Given the description of an element on the screen output the (x, y) to click on. 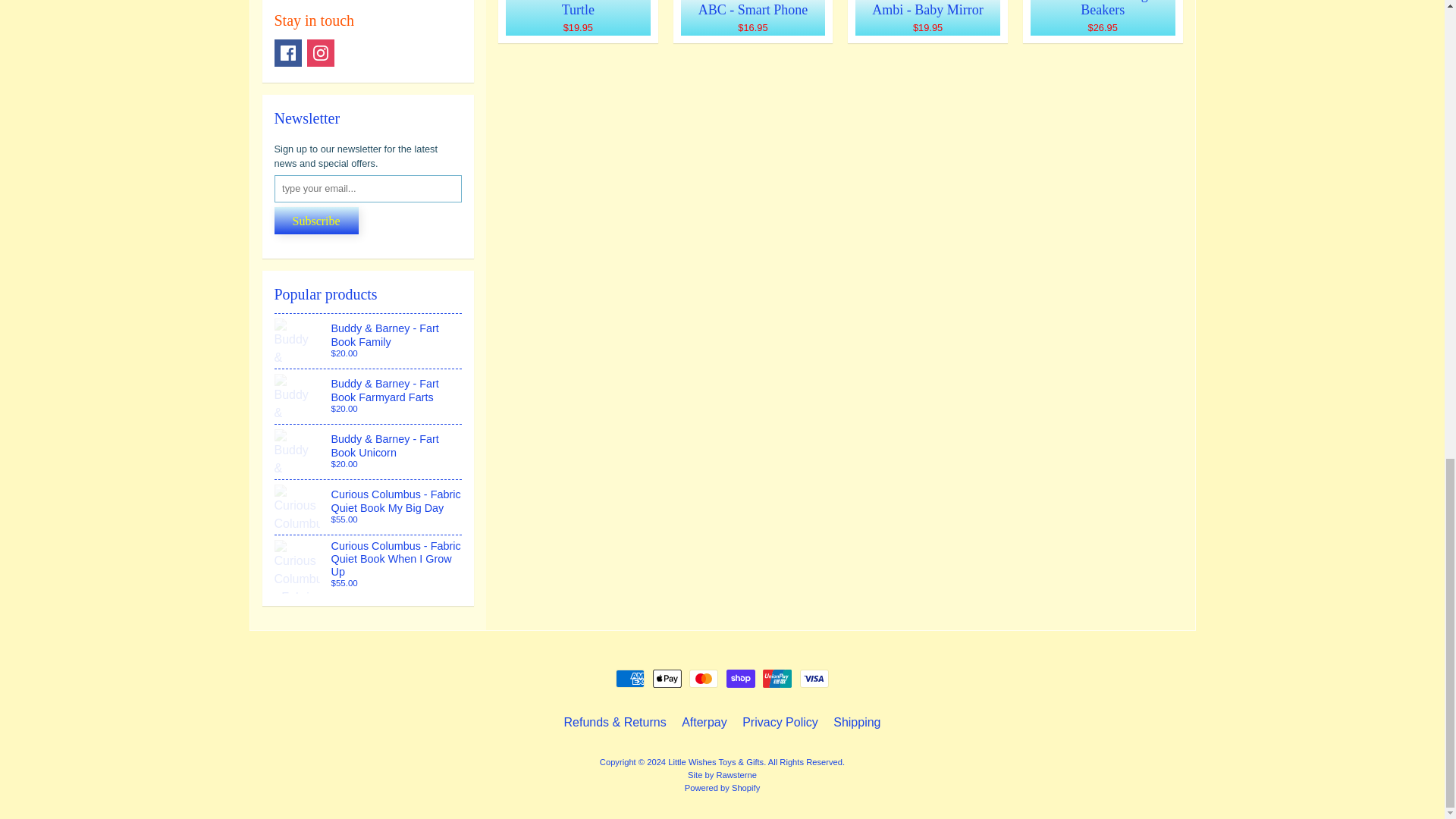
Apple Pay (666, 678)
ABC - Slide'N Match Turtle (577, 21)
Instagram (320, 52)
Union Pay (777, 678)
ABC - Smart Phone (752, 21)
Curious Columbus - Fabric Quiet Book My Big Day (369, 506)
American Express (630, 678)
Shop Pay (740, 678)
Mastercard (702, 678)
Curious Columbus - Fabric Quiet Book When I Grow Up (369, 564)
Facebook (288, 52)
Visa (813, 678)
Ambi - Building Beakers (1102, 21)
Ambi - Baby Mirror (927, 21)
